Given the description of an element on the screen output the (x, y) to click on. 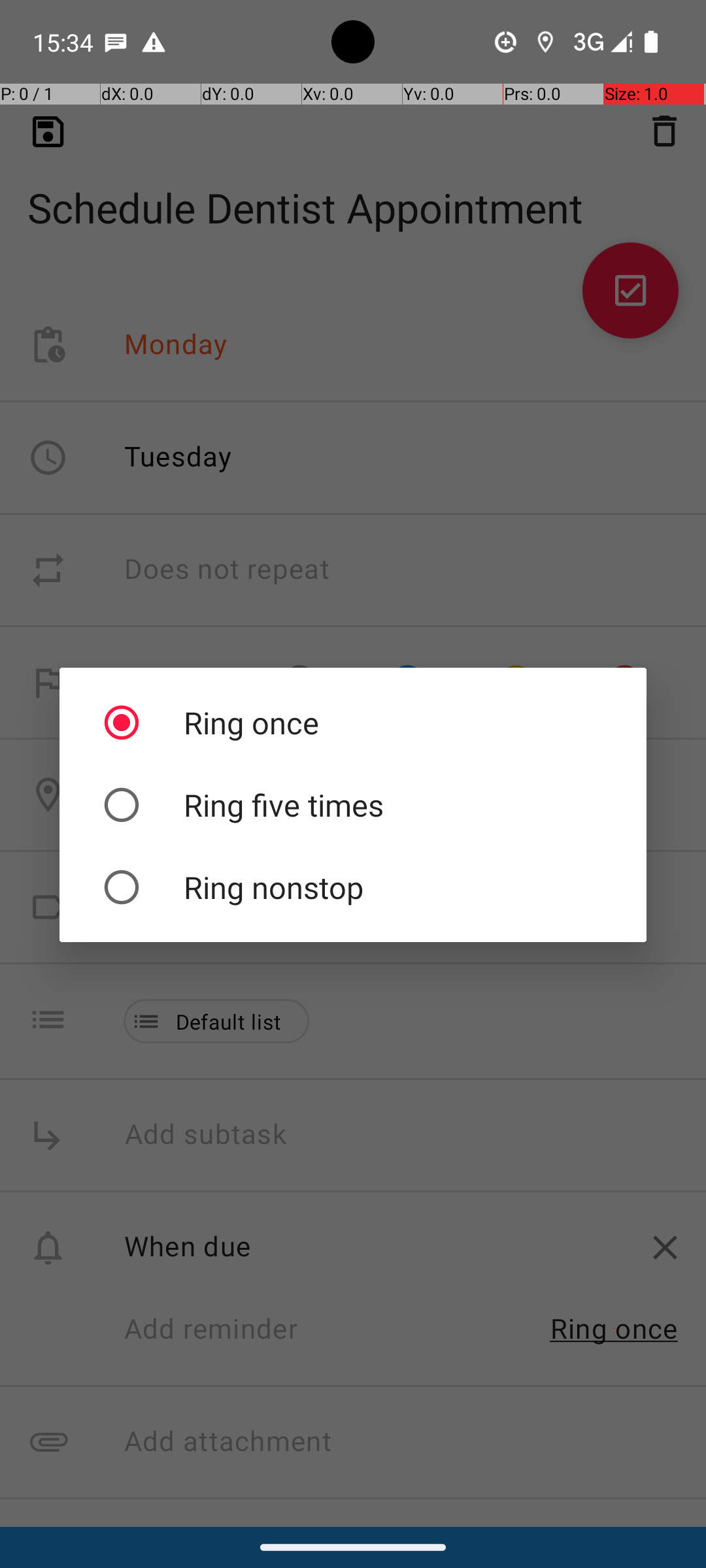
Ring once Element type: android.widget.CheckedTextView (352, 722)
Ring five times Element type: android.widget.CheckedTextView (352, 804)
Ring nonstop Element type: android.widget.CheckedTextView (352, 887)
